Given the description of an element on the screen output the (x, y) to click on. 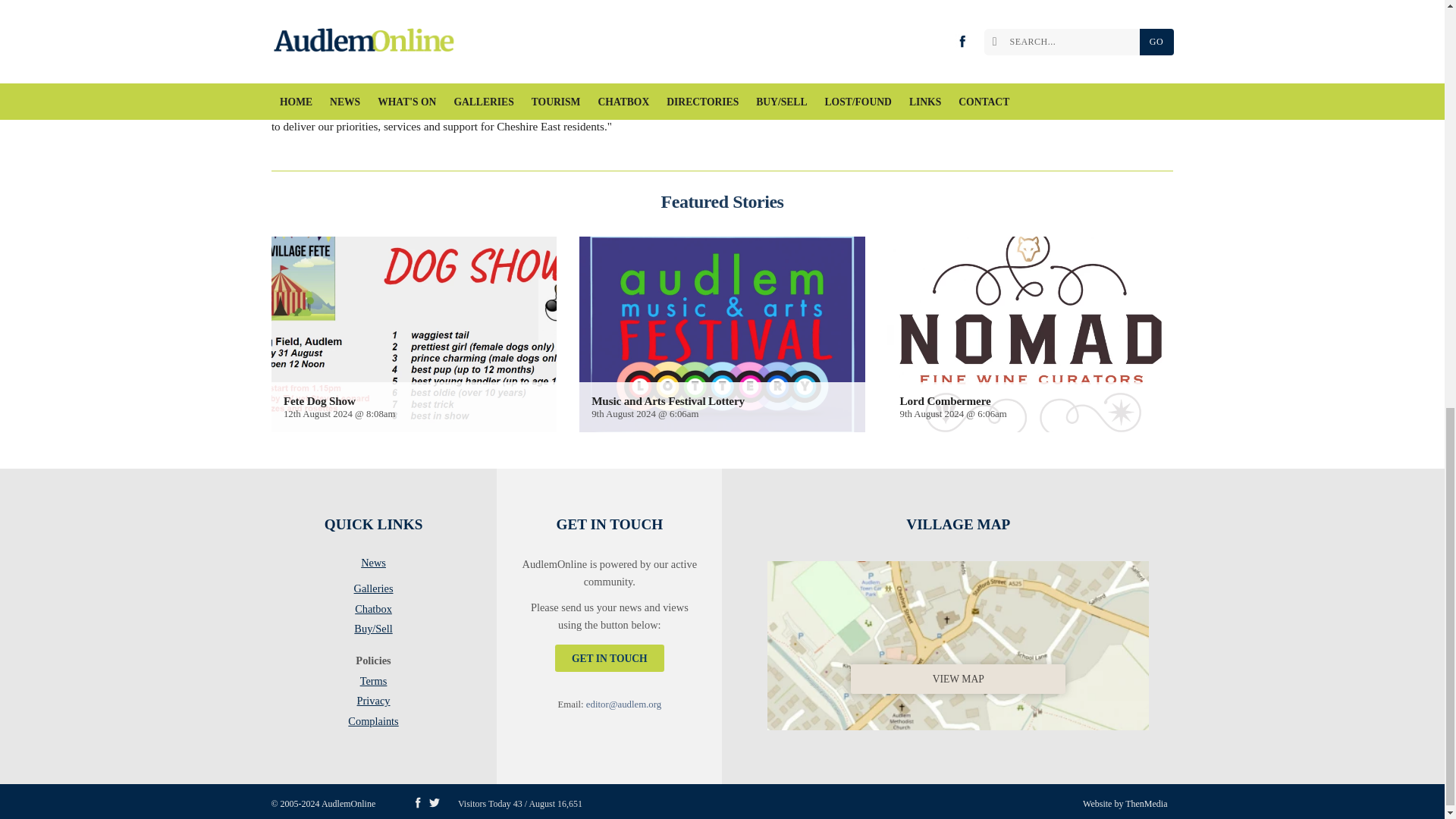
Visit our X Feed (434, 802)
GET IN TOUCH (608, 657)
Terms (373, 683)
Galleries (373, 591)
Privacy (373, 703)
Visit our Facebook Page (417, 802)
News (373, 565)
Featured Stories (722, 201)
VIEW MAP (957, 643)
